Given the description of an element on the screen output the (x, y) to click on. 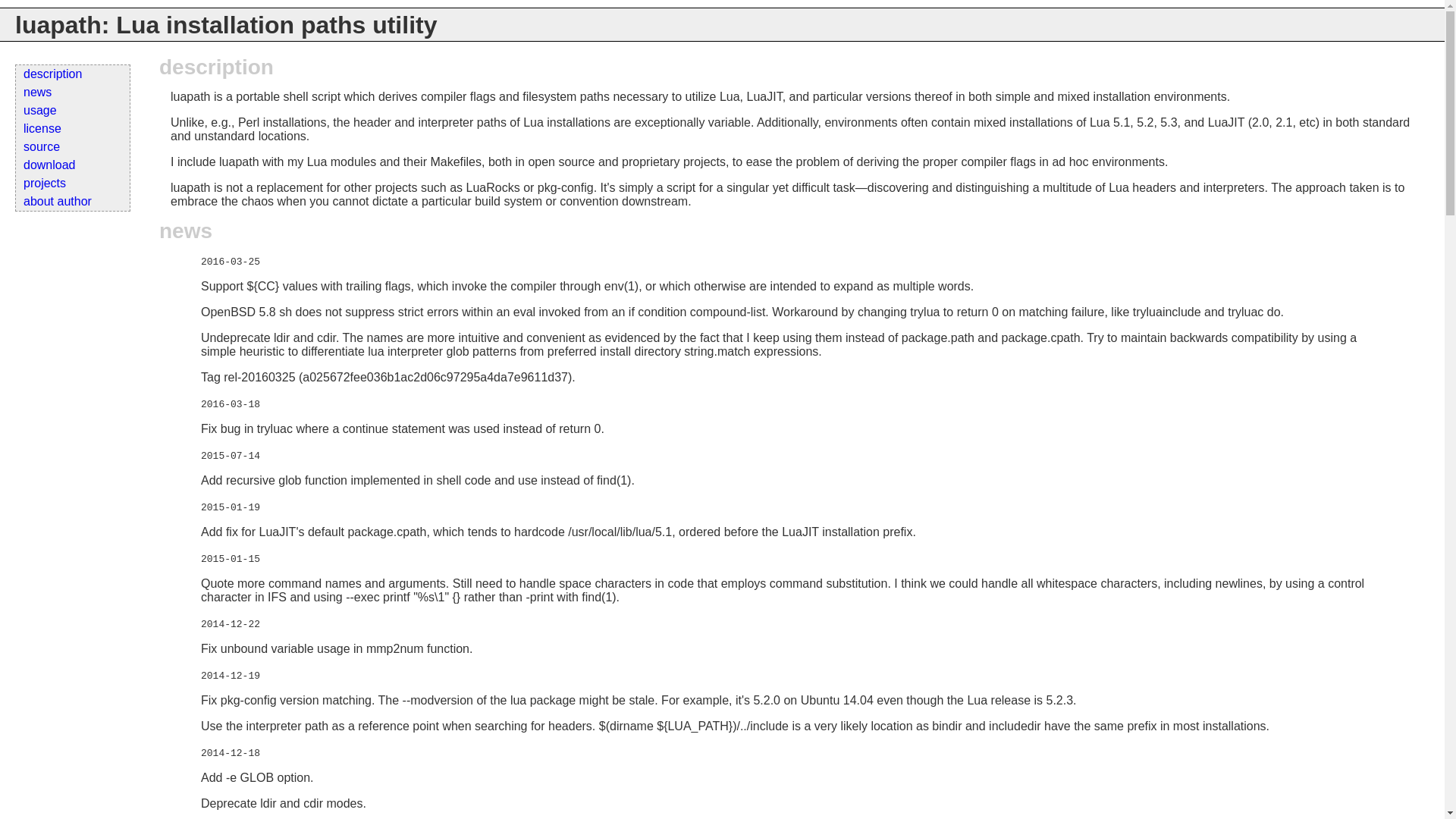
download Element type: text (72, 165)
description Element type: text (72, 74)
usage Element type: text (72, 110)
news Element type: text (72, 92)
projects Element type: text (72, 183)
license Element type: text (72, 128)
source Element type: text (72, 147)
about author Element type: text (72, 201)
